Given the description of an element on the screen output the (x, y) to click on. 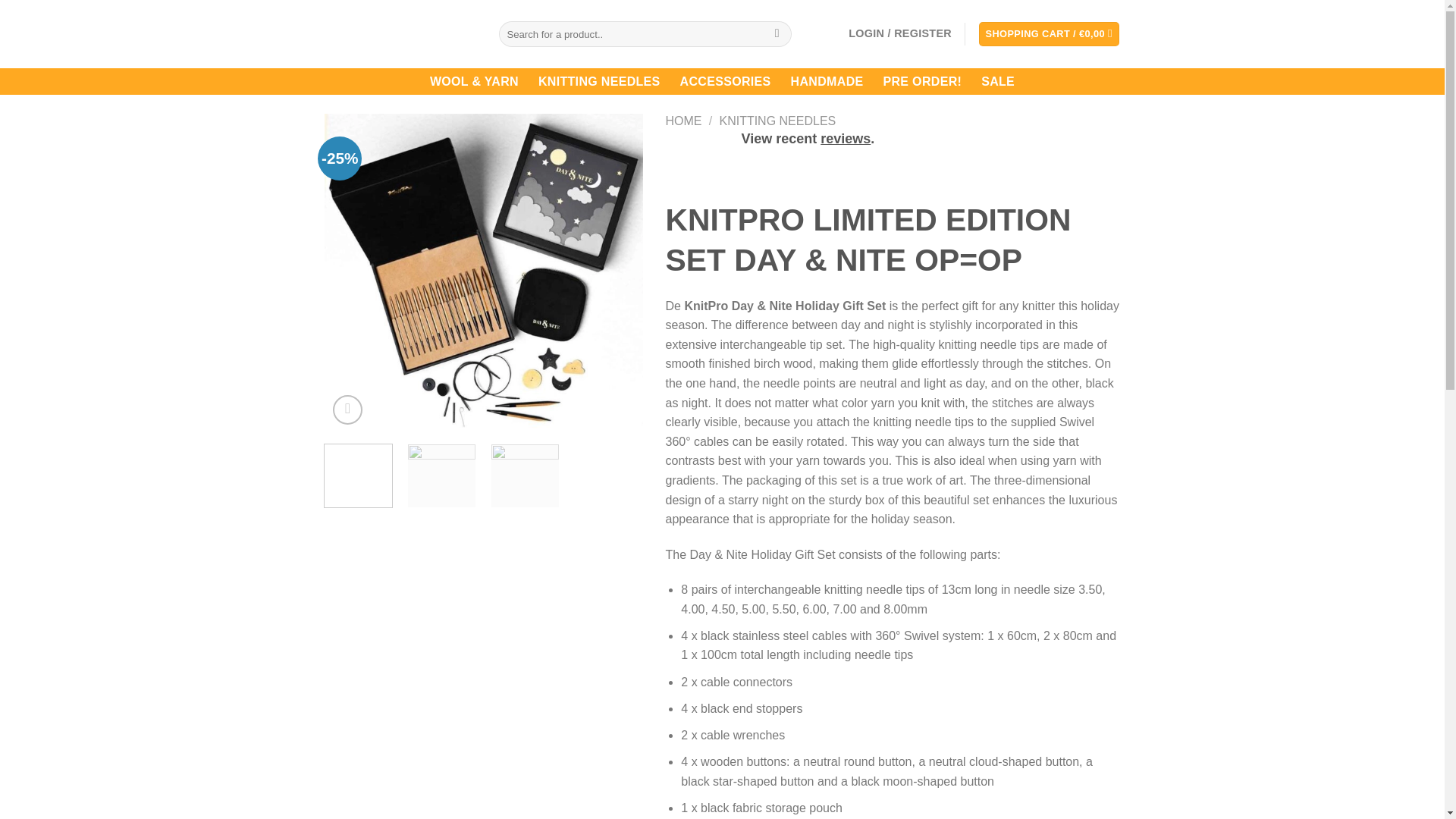
Letsknit - Everything for knitting and crocheting! (400, 33)
ACCESSORIES (725, 81)
KNITTING NEEDLES (599, 81)
KNITTING NEEDLES (777, 120)
Shopping Cart (1048, 34)
Zoom (347, 409)
HANDMADE (826, 81)
Zoeken (776, 33)
HOME (683, 120)
Login (900, 33)
